Given the description of an element on the screen output the (x, y) to click on. 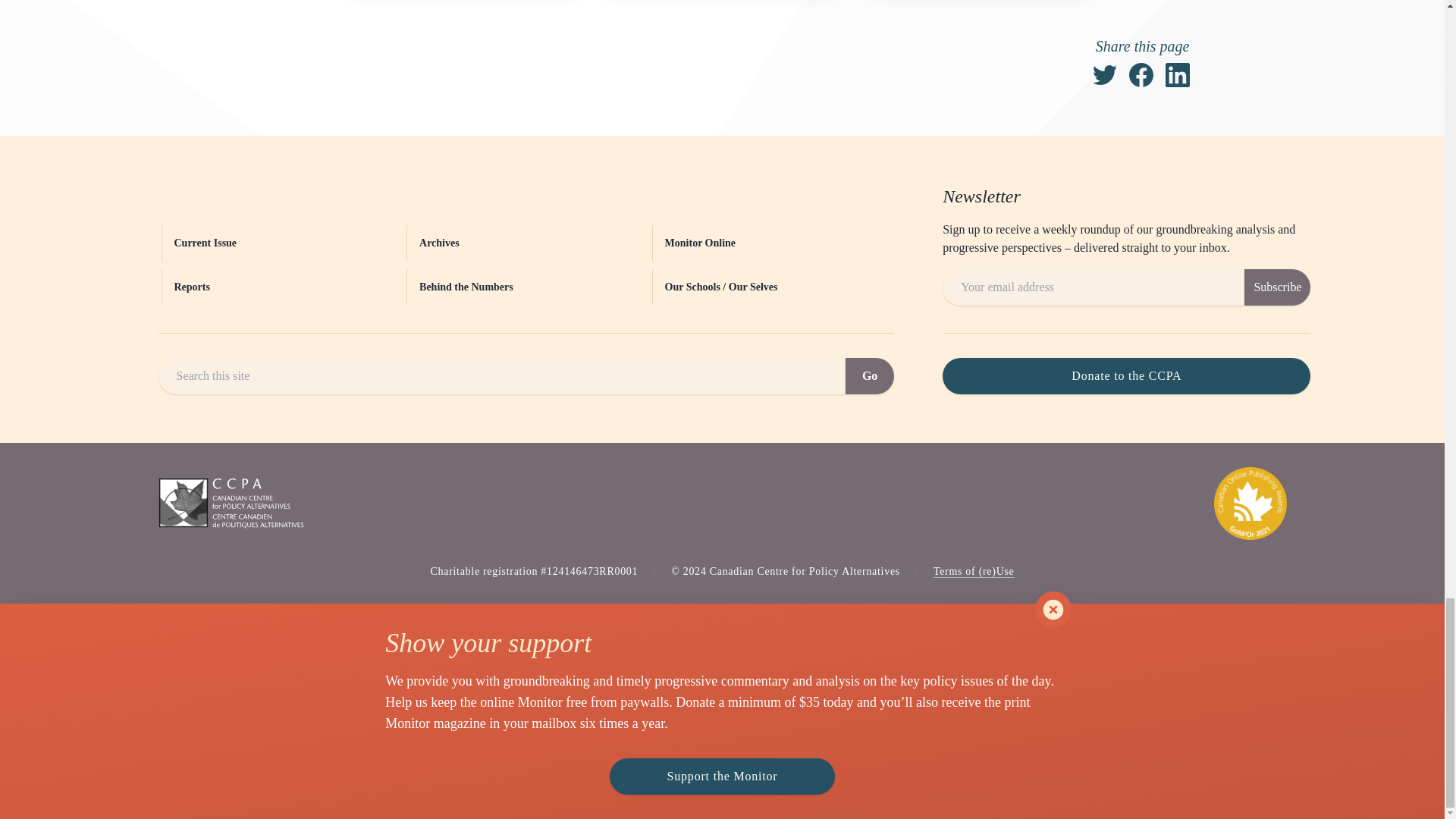
Share on Facebook (1140, 74)
Share on LinkedIn (1176, 74)
Tweet (1104, 74)
Subscribe (1277, 287)
